Given the description of an element on the screen output the (x, y) to click on. 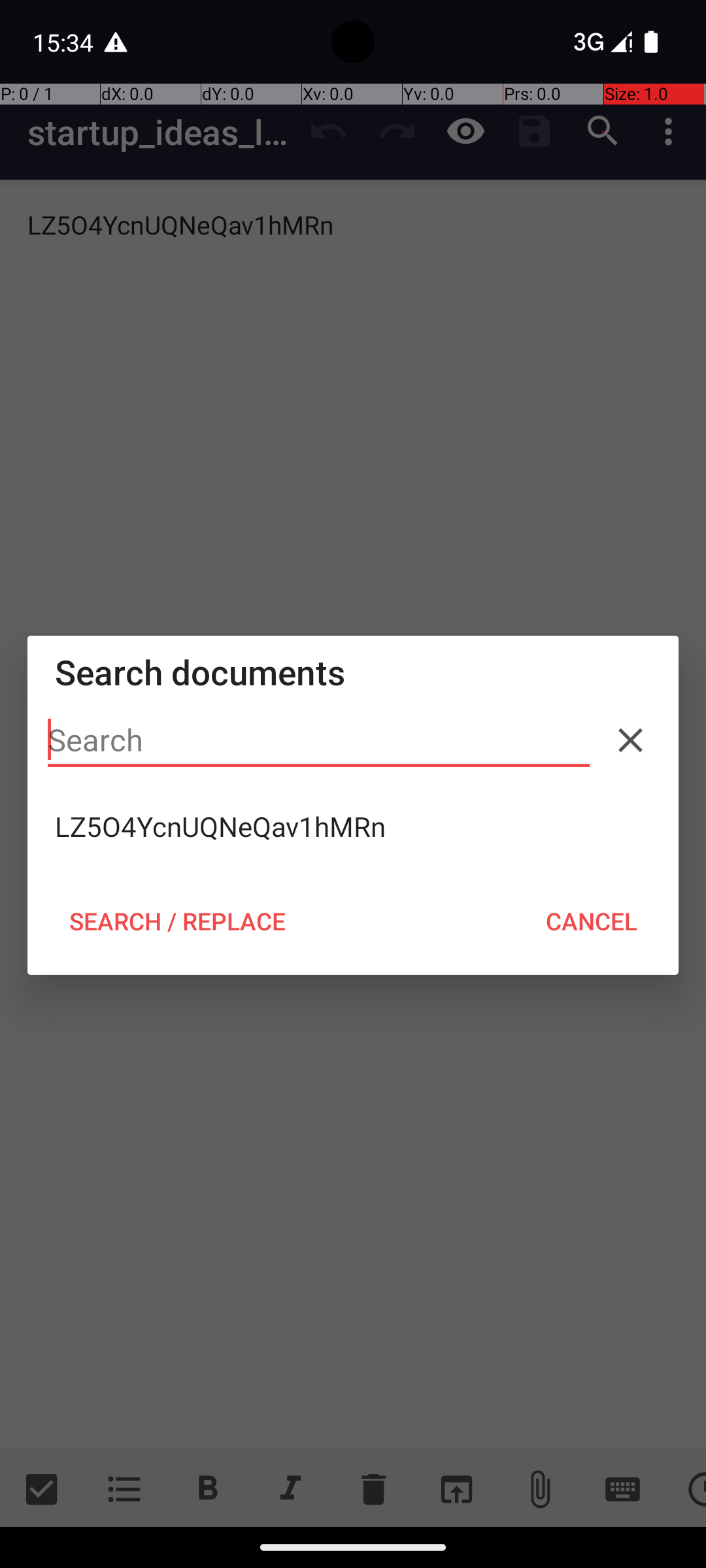
Search documents Element type: android.widget.TextView (352, 671)
LZ5O4YcnUQNeQav1hMRn Element type: android.widget.TextView (352, 826)
SEARCH / REPLACE Element type: android.widget.Button (176, 920)
